Given the description of an element on the screen output the (x, y) to click on. 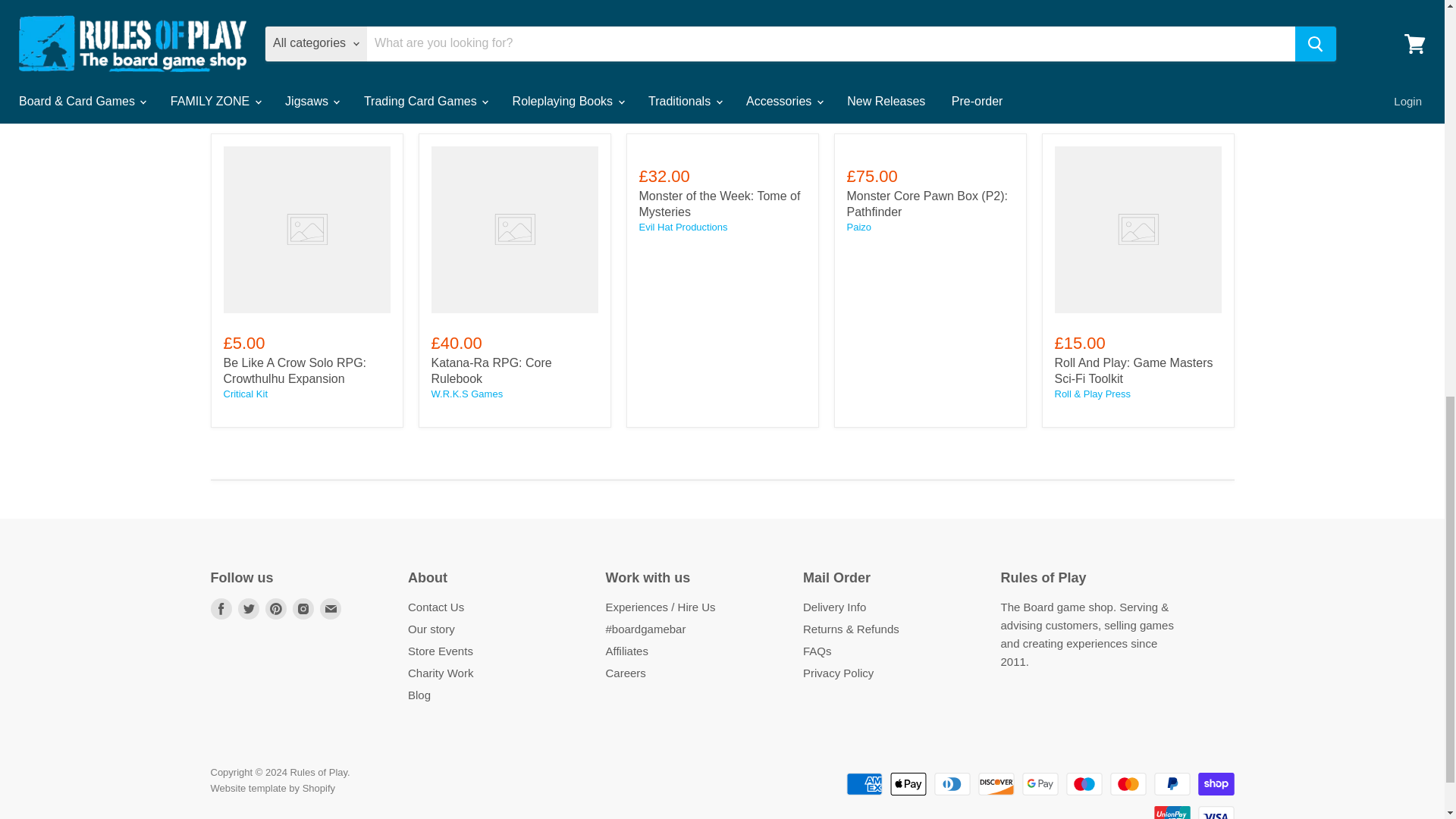
Instagram (303, 608)
W.R.K.S Games (466, 393)
Email (330, 608)
Twitter (248, 608)
Critical Kit (244, 393)
Evil Hat Productions (682, 226)
Facebook (221, 608)
Paizo (857, 226)
Pinterest (275, 608)
